Given the description of an element on the screen output the (x, y) to click on. 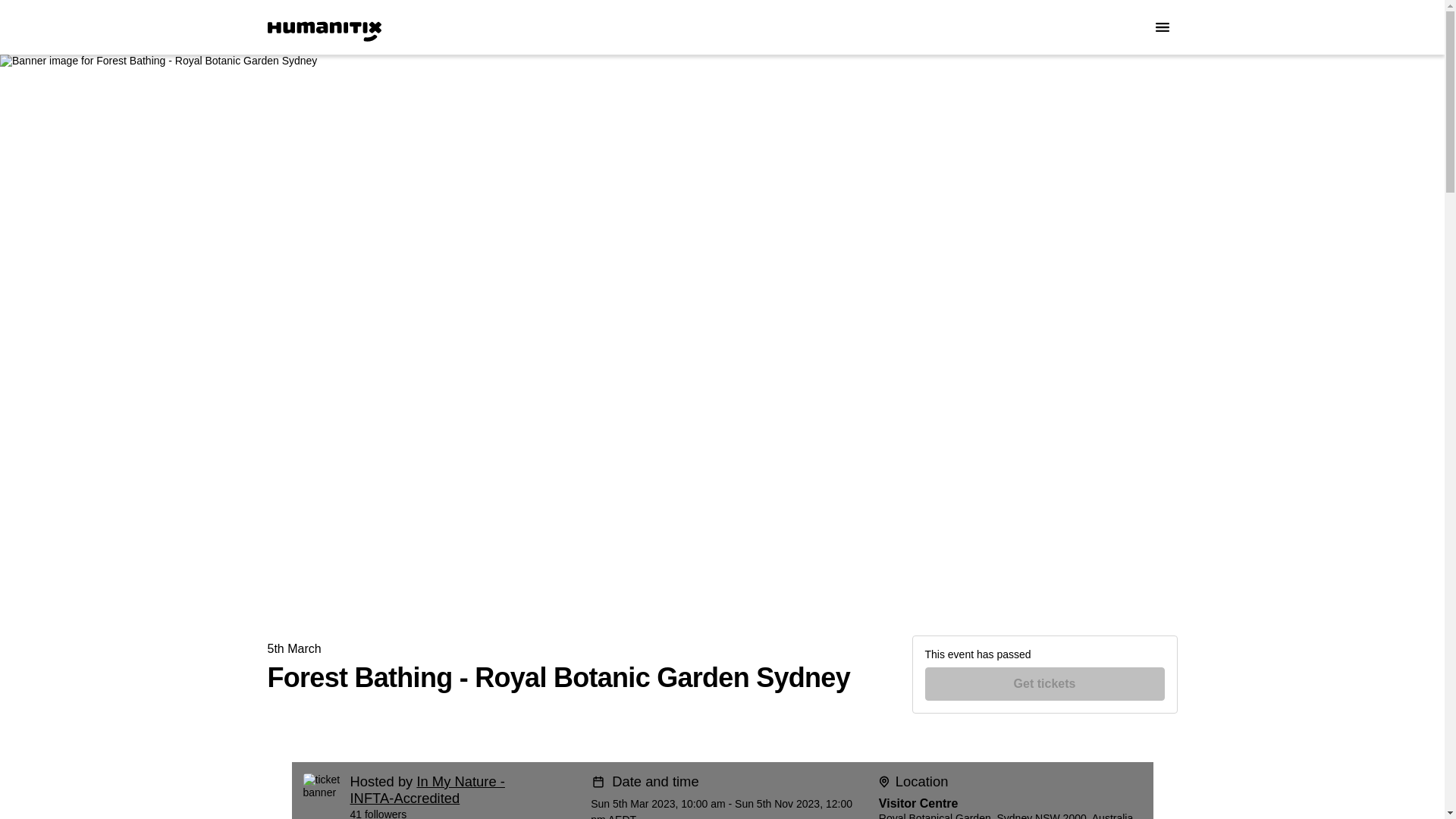
Skip to Content (18, 18)
Get tickets (1044, 684)
In My Nature - INFTA-Accredited (427, 789)
